Given the description of an element on the screen output the (x, y) to click on. 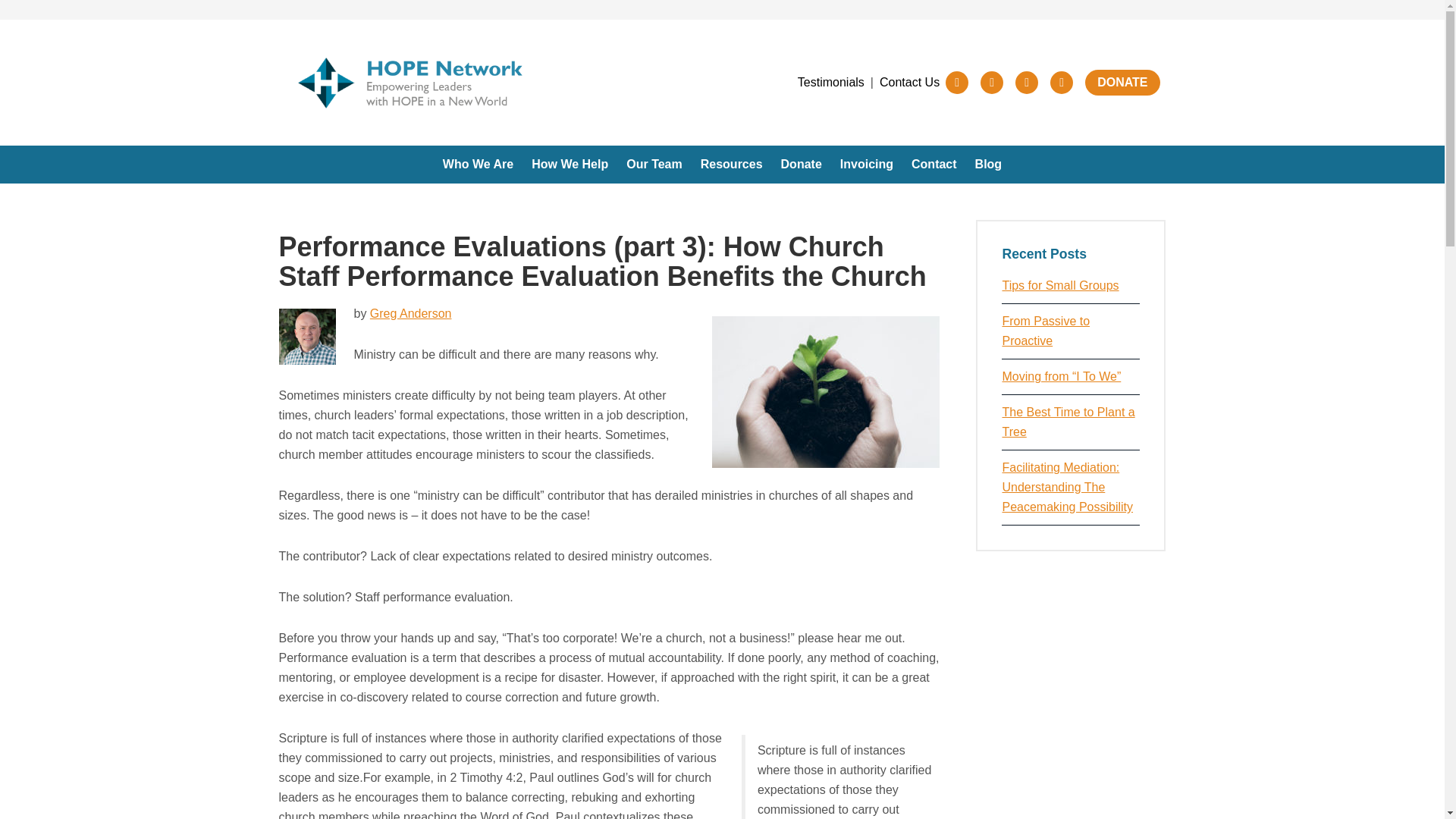
Testimonials (830, 82)
Contact Us (909, 82)
Who We Are (477, 164)
Donate (801, 164)
Our Team (654, 164)
Resources (731, 164)
Contact (933, 164)
Blog (989, 164)
DONATE (1121, 82)
How We Help (569, 164)
Invoicing (866, 164)
Greg Anderson (410, 313)
